Given the description of an element on the screen output the (x, y) to click on. 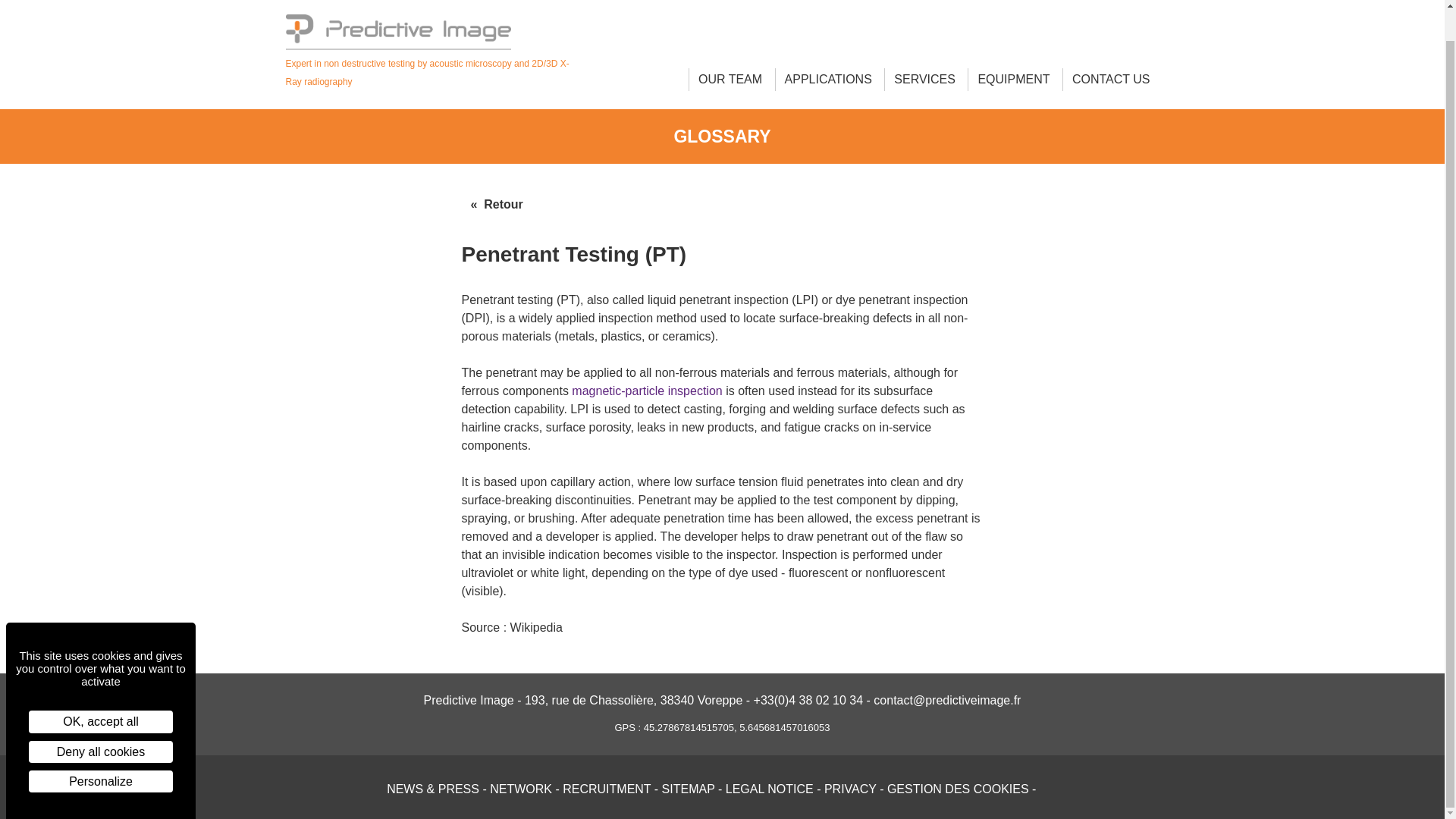
RECRUITMENT (606, 788)
APPLICATIONS (828, 78)
CONTACT US (1110, 78)
NETWORK (520, 788)
SITEMAP (688, 788)
OUR TEAM (729, 78)
LEGAL NOTICE (769, 788)
SERVICES (924, 78)
magnetic-particle inspection (647, 390)
EQUIPMENT (1013, 78)
PRIVACY (850, 788)
GESTION DES COOKIES (957, 788)
Retour (496, 204)
